Given the description of an element on the screen output the (x, y) to click on. 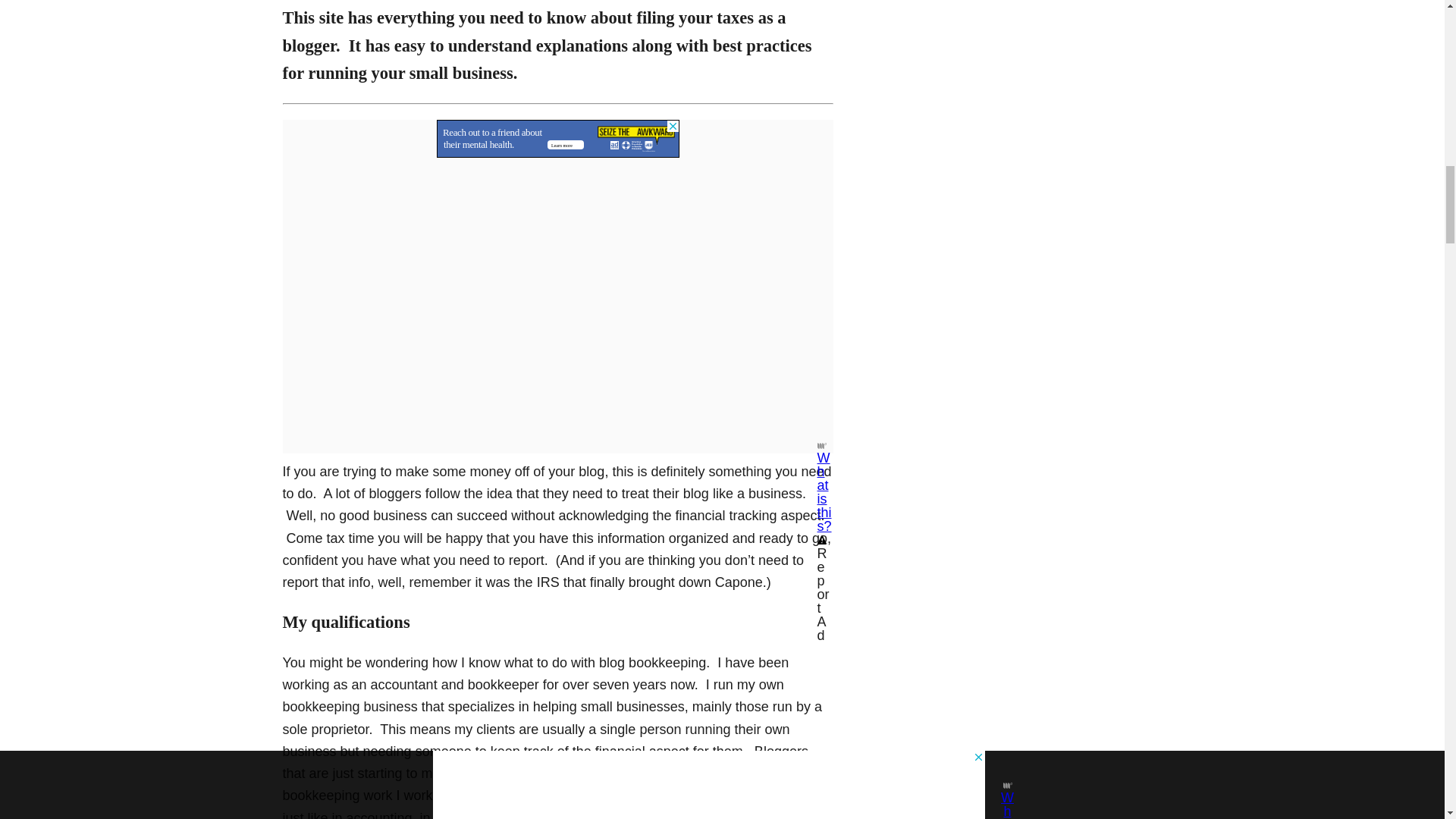
3rd party ad content (557, 138)
